Given the description of an element on the screen output the (x, y) to click on. 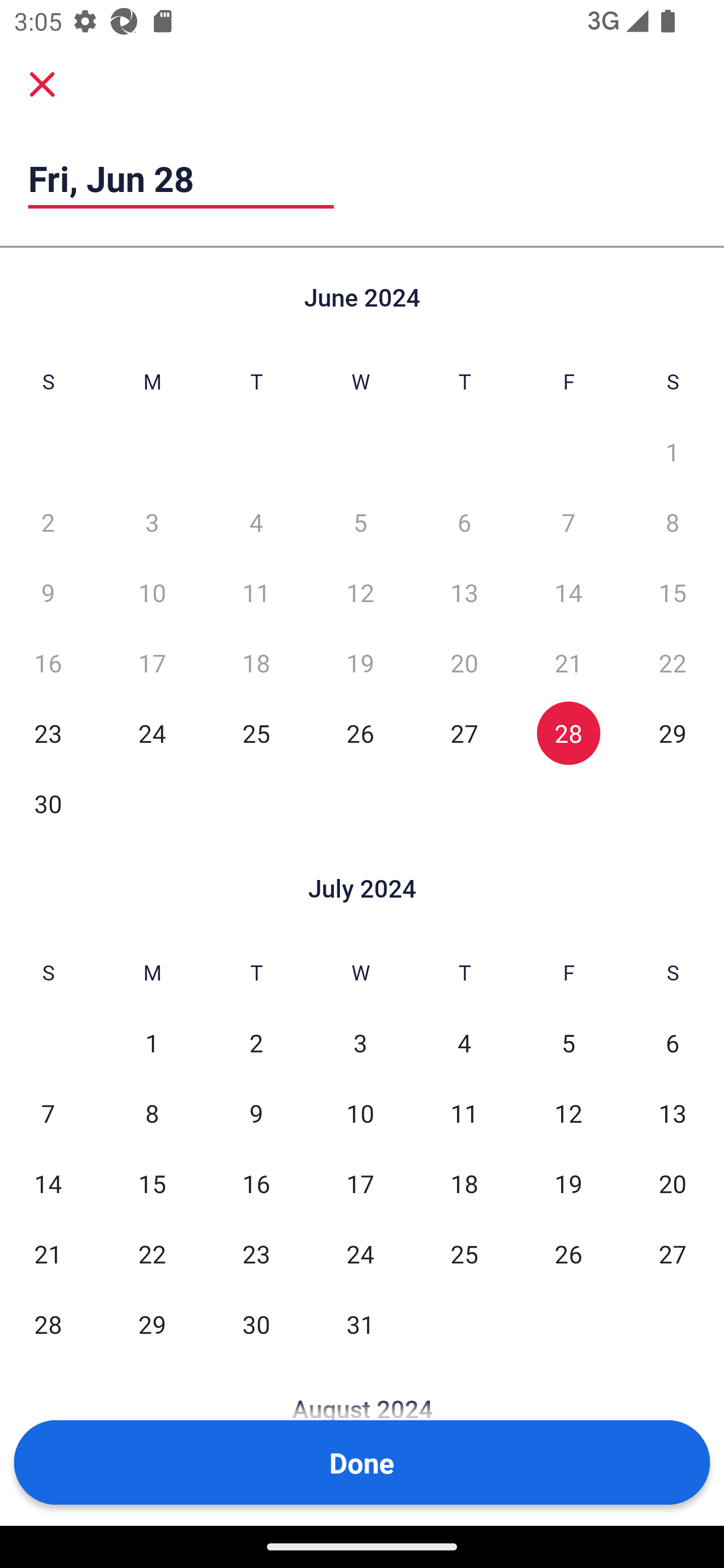
Cancel (41, 83)
Fri, Jun 28 (180, 178)
1 Sat, Jun 1, Not Selected (672, 452)
2 Sun, Jun 2, Not Selected (48, 521)
3 Mon, Jun 3, Not Selected (152, 521)
4 Tue, Jun 4, Not Selected (256, 521)
5 Wed, Jun 5, Not Selected (360, 521)
6 Thu, Jun 6, Not Selected (464, 521)
7 Fri, Jun 7, Not Selected (568, 521)
8 Sat, Jun 8, Not Selected (672, 521)
9 Sun, Jun 9, Not Selected (48, 591)
10 Mon, Jun 10, Not Selected (152, 591)
11 Tue, Jun 11, Not Selected (256, 591)
12 Wed, Jun 12, Not Selected (360, 591)
13 Thu, Jun 13, Not Selected (464, 591)
14 Fri, Jun 14, Not Selected (568, 591)
15 Sat, Jun 15, Not Selected (672, 591)
16 Sun, Jun 16, Not Selected (48, 662)
17 Mon, Jun 17, Not Selected (152, 662)
18 Tue, Jun 18, Not Selected (256, 662)
19 Wed, Jun 19, Not Selected (360, 662)
20 Thu, Jun 20, Not Selected (464, 662)
21 Fri, Jun 21, Not Selected (568, 662)
22 Sat, Jun 22, Not Selected (672, 662)
23 Sun, Jun 23, Not Selected (48, 732)
24 Mon, Jun 24, Not Selected (152, 732)
25 Tue, Jun 25, Not Selected (256, 732)
26 Wed, Jun 26, Not Selected (360, 732)
27 Thu, Jun 27, Not Selected (464, 732)
28 Fri, Jun 28, Selected (568, 732)
29 Sat, Jun 29, Not Selected (672, 732)
30 Sun, Jun 30, Not Selected (48, 803)
1 Mon, Jul 1, Not Selected (152, 1043)
2 Tue, Jul 2, Not Selected (256, 1043)
3 Wed, Jul 3, Not Selected (360, 1043)
4 Thu, Jul 4, Not Selected (464, 1043)
5 Fri, Jul 5, Not Selected (568, 1043)
6 Sat, Jul 6, Not Selected (672, 1043)
7 Sun, Jul 7, Not Selected (48, 1112)
8 Mon, Jul 8, Not Selected (152, 1112)
9 Tue, Jul 9, Not Selected (256, 1112)
10 Wed, Jul 10, Not Selected (360, 1112)
11 Thu, Jul 11, Not Selected (464, 1112)
12 Fri, Jul 12, Not Selected (568, 1112)
13 Sat, Jul 13, Not Selected (672, 1112)
14 Sun, Jul 14, Not Selected (48, 1182)
15 Mon, Jul 15, Not Selected (152, 1182)
16 Tue, Jul 16, Not Selected (256, 1182)
17 Wed, Jul 17, Not Selected (360, 1182)
18 Thu, Jul 18, Not Selected (464, 1182)
19 Fri, Jul 19, Not Selected (568, 1182)
20 Sat, Jul 20, Not Selected (672, 1182)
21 Sun, Jul 21, Not Selected (48, 1253)
22 Mon, Jul 22, Not Selected (152, 1253)
23 Tue, Jul 23, Not Selected (256, 1253)
24 Wed, Jul 24, Not Selected (360, 1253)
25 Thu, Jul 25, Not Selected (464, 1253)
26 Fri, Jul 26, Not Selected (568, 1253)
27 Sat, Jul 27, Not Selected (672, 1253)
28 Sun, Jul 28, Not Selected (48, 1323)
29 Mon, Jul 29, Not Selected (152, 1323)
30 Tue, Jul 30, Not Selected (256, 1323)
31 Wed, Jul 31, Not Selected (360, 1323)
Done Button Done (361, 1462)
